Given the description of an element on the screen output the (x, y) to click on. 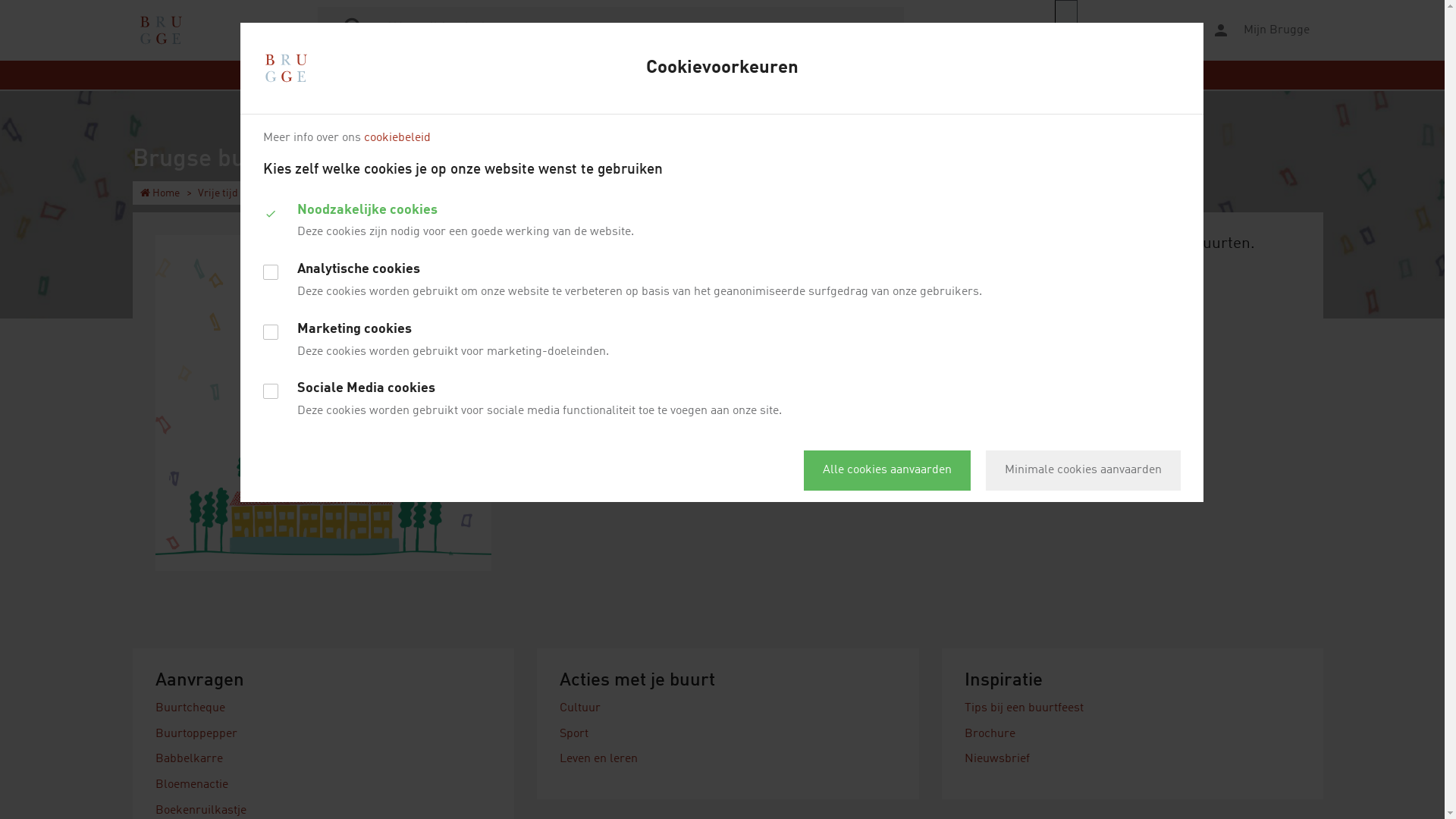
WERK & ONDERNEMEN Element type: text (800, 74)
Ga naar de startpagina Element type: hover (160, 30)
brugsebuurten@brugge.be Element type: text (1109, 286)
Cultuur Element type: text (579, 708)
Buurtoppepper Element type: text (196, 734)
Vrije tijd Element type: text (217, 193)
BESTUUR Element type: text (1006, 74)
webReader menu Element type: hover (1065, 30)
cookiebeleid Element type: text (397, 137)
Bloemenactie Element type: text (191, 784)
VRIJE TIJD Element type: text (697, 74)
WELZIJN & ZORG Element type: text (919, 74)
Bekijk de openingsuren Element type: text (1027, 304)
LEVEN & MOBILITEIT Element type: text (475, 74)
Tips bij een buurtfeest Element type: text (1023, 708)
Home Element type: text (159, 193)
Alle cookies aanvaarden Element type: text (886, 470)
Lees voor Element type: text (1122, 30)
Leven en leren Element type: text (598, 759)
Nieuwsbrief Element type: text (996, 759)
050 44 82 22 Element type: text (996, 286)
Sport Element type: text (573, 734)
Minimale cookies aanvaarden Element type: text (1082, 470)
Brochure Element type: text (989, 734)
Buurtcheque Element type: text (190, 708)
Bekijk de brochure Element type: text (1029, 385)
Babbelkarre Element type: text (188, 759)
Boekenruilkastje Element type: text (200, 810)
Volg ons op facebook Element type: hover (1038, 330)
WONEN & OMGEVING Element type: text (598, 74)
